Given the description of an element on the screen output the (x, y) to click on. 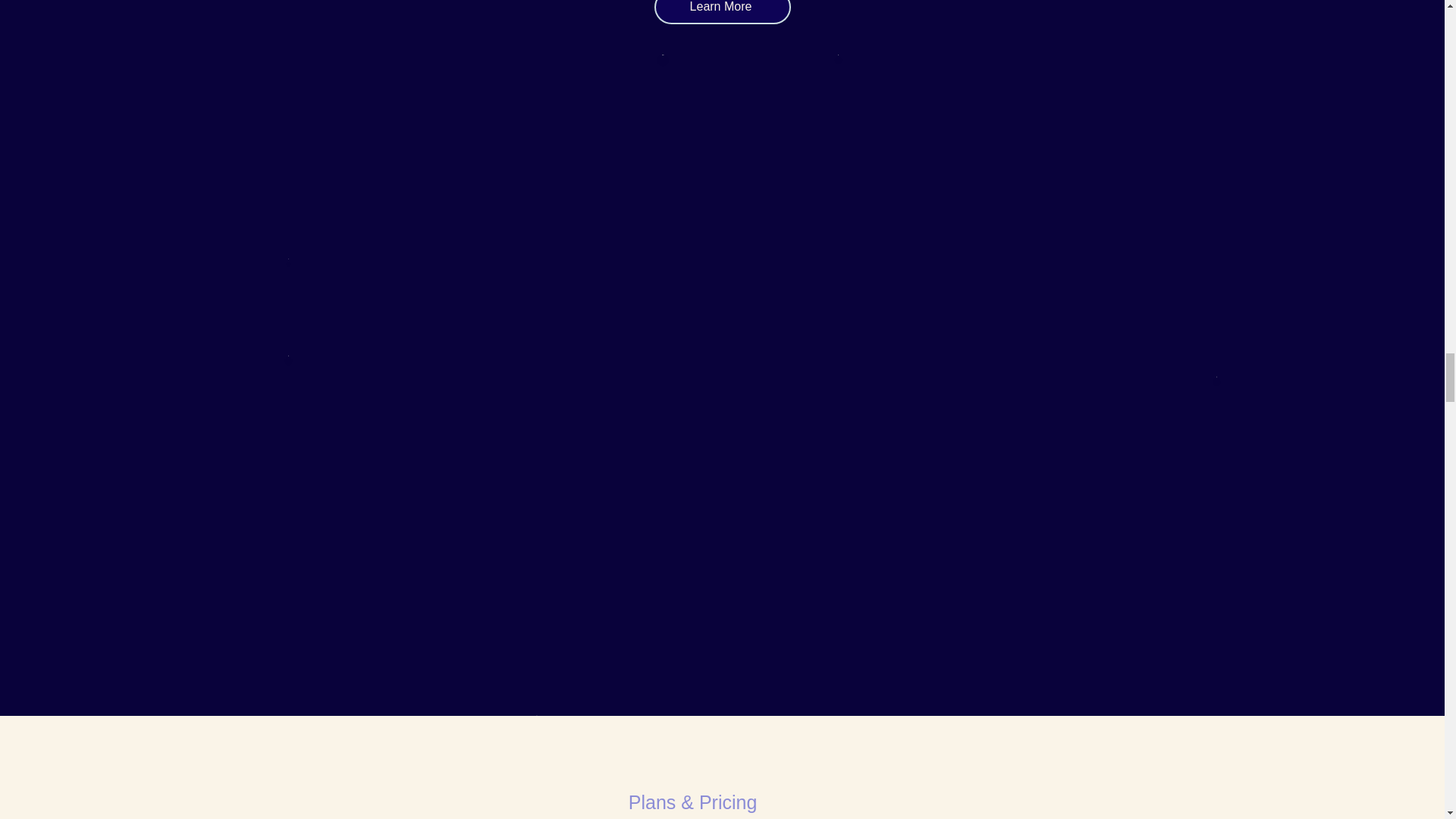
Learn More (721, 12)
